Given the description of an element on the screen output the (x, y) to click on. 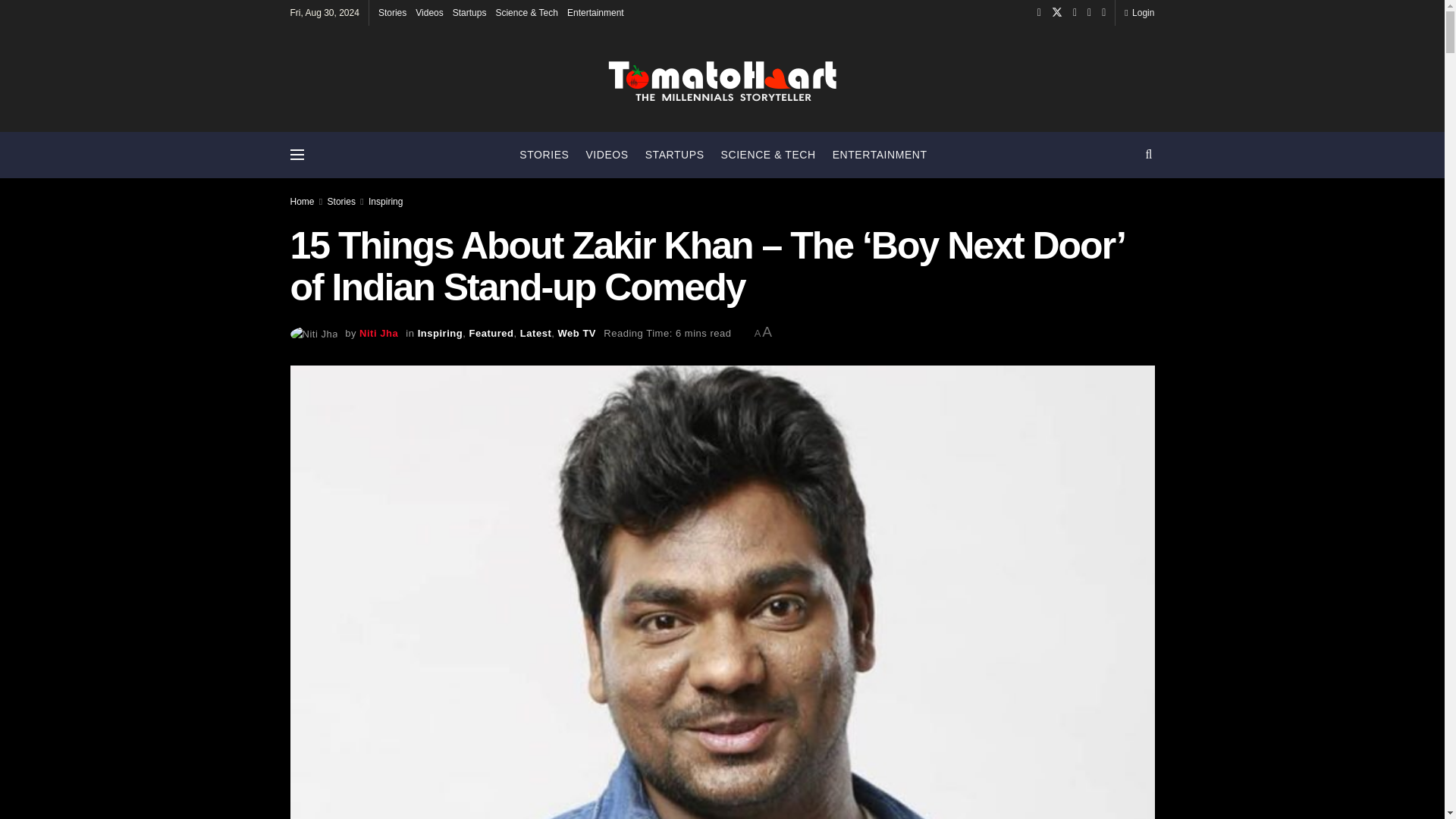
Home (301, 201)
Inspiring (385, 201)
Startups (469, 12)
Latest (535, 333)
Login (1139, 12)
Entertainment (595, 12)
Niti Jha (378, 333)
Stories (392, 12)
STORIES (544, 154)
Featured (490, 333)
